Given the description of an element on the screen output the (x, y) to click on. 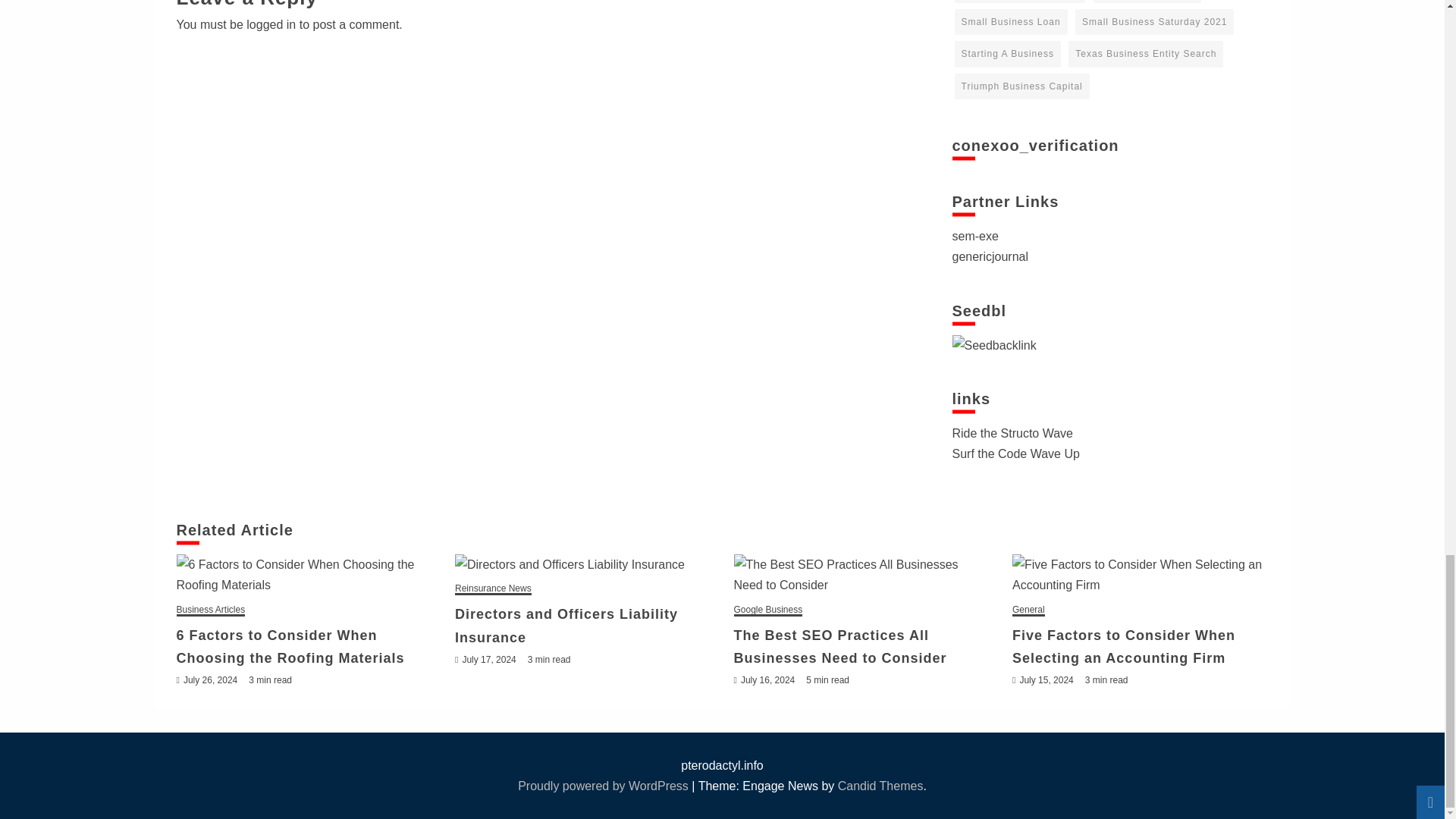
6 Factors to Consider When Choosing the Roofing Materials (304, 574)
Directors and Officers Liability Insurance (582, 564)
Seedbacklink (994, 344)
